Given the description of an element on the screen output the (x, y) to click on. 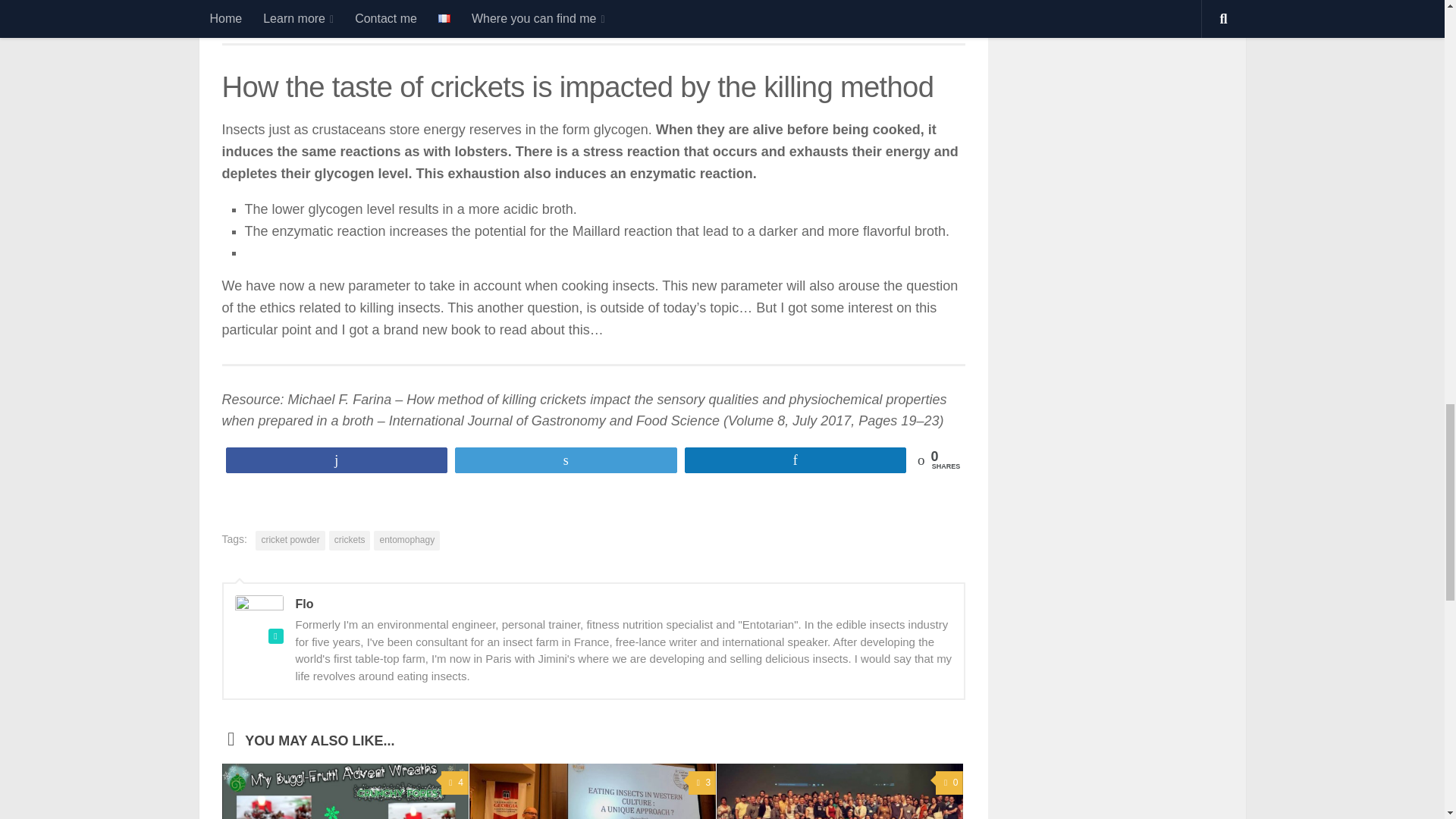
entomophagy (406, 540)
cricket powder (290, 540)
4 (454, 782)
crickets (350, 540)
